Given the description of an element on the screen output the (x, y) to click on. 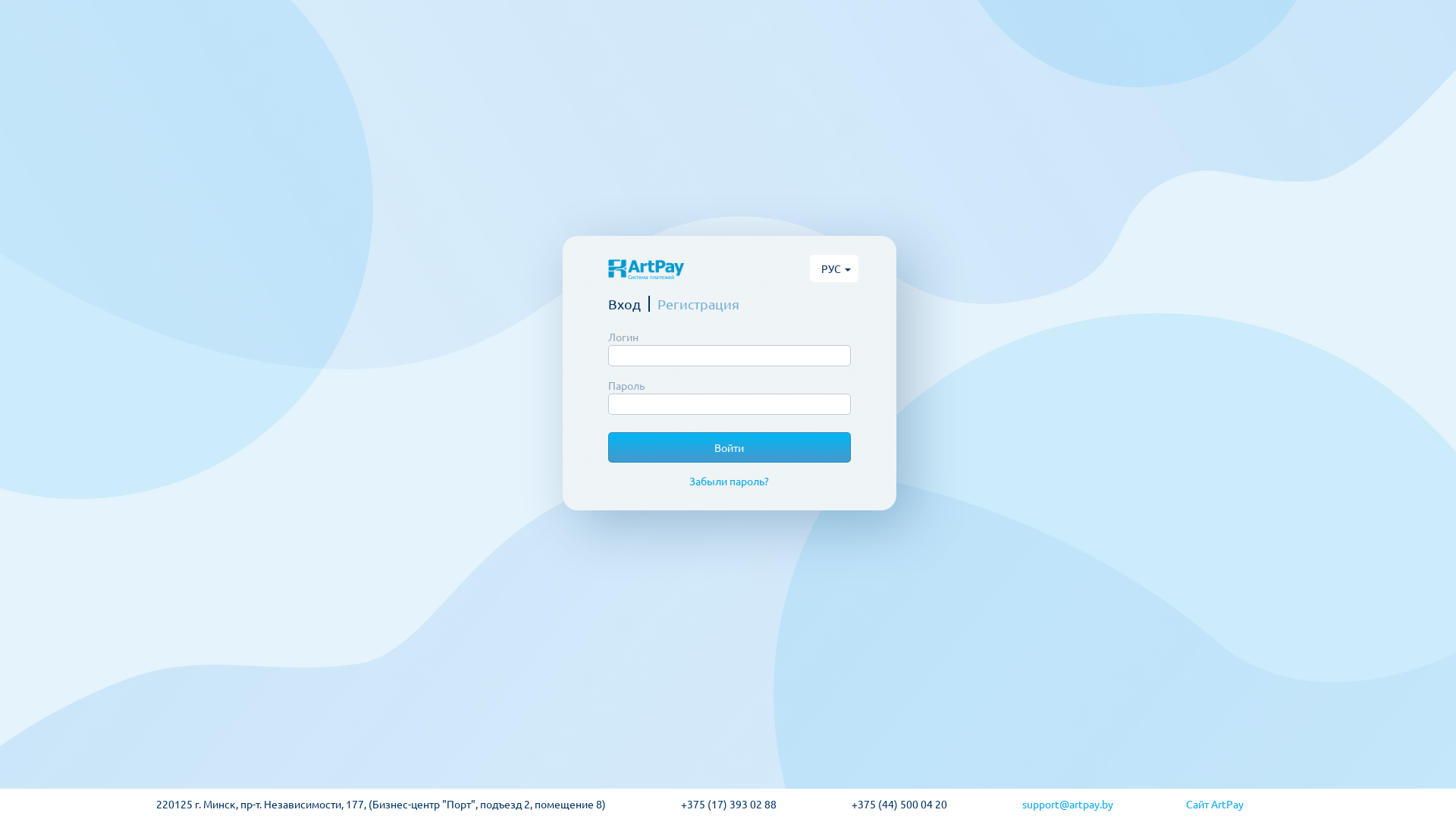
support@artpay.by Element type: text (1104, 803)
